Given the description of an element on the screen output the (x, y) to click on. 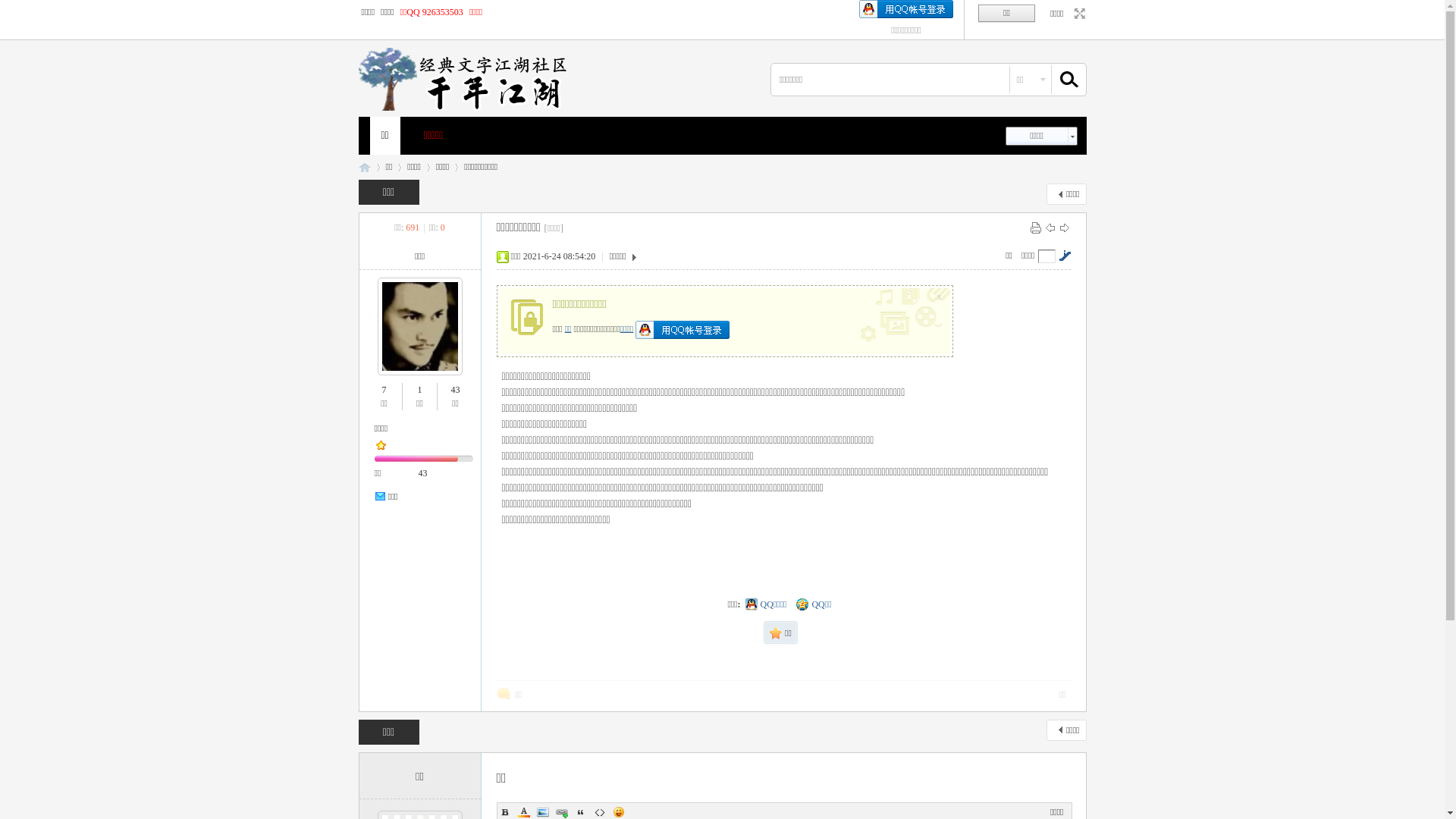
true Element type: text (1060, 79)
7 Element type: text (384, 388)
43 Element type: text (422, 472)
43 Element type: text (454, 388)
x Element type: text (940, 293)
1 Element type: text (419, 388)
